Given the description of an element on the screen output the (x, y) to click on. 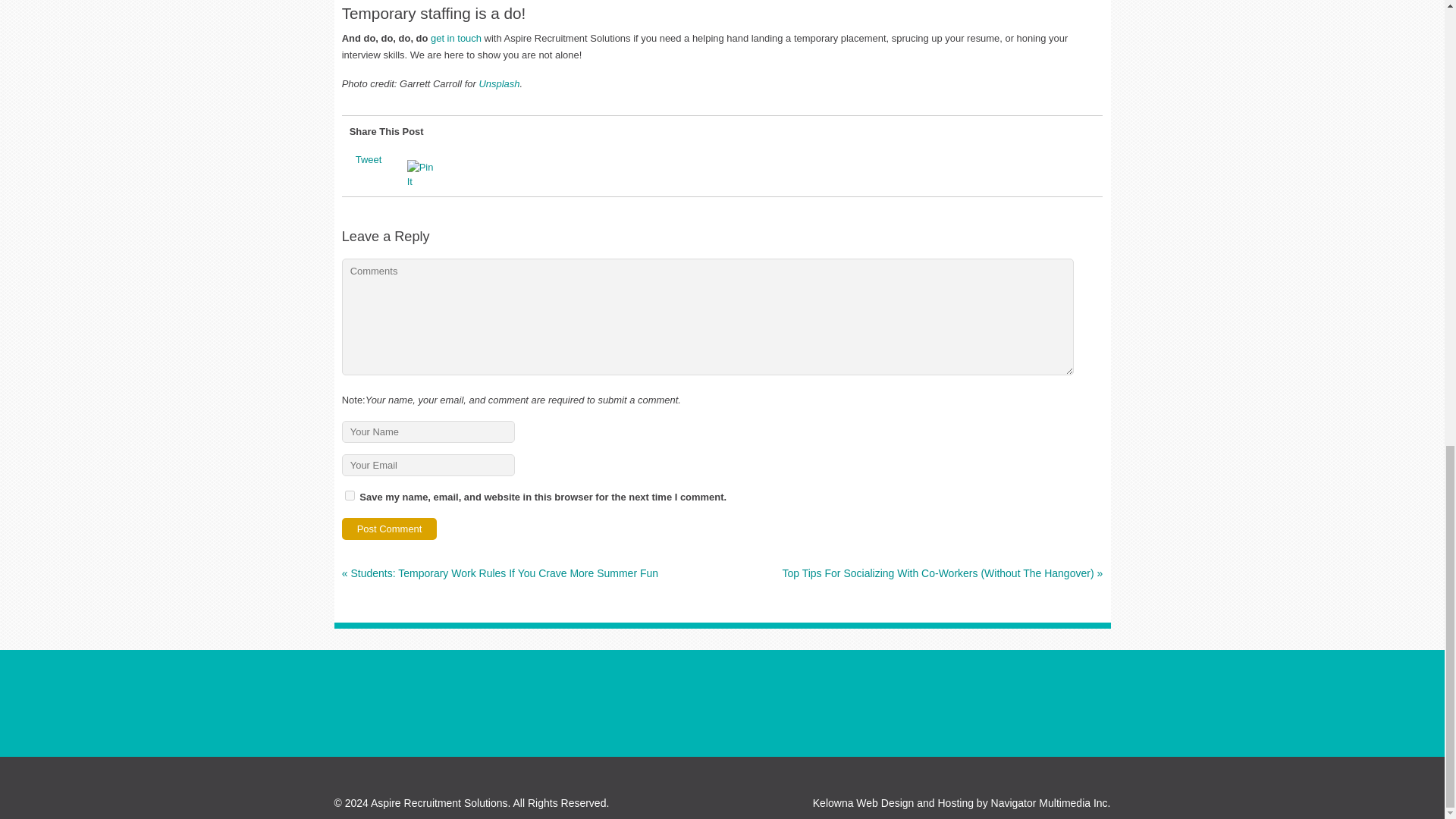
Post Comment (390, 528)
Pin It (424, 174)
Unsplash (499, 83)
yes (350, 495)
Tweet (368, 159)
Web Design and Hosting By Navigator Multimedia Inc (893, 802)
get in touch (455, 38)
Post Comment (390, 528)
